Given the description of an element on the screen output the (x, y) to click on. 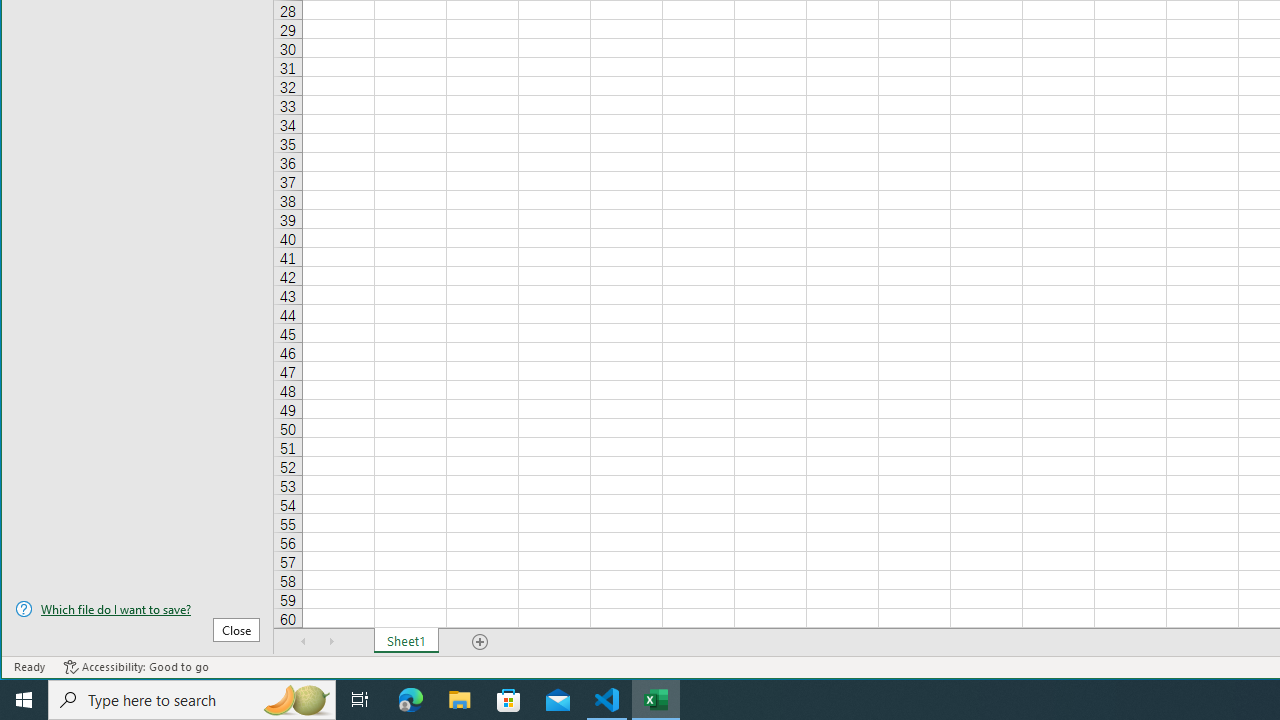
Task View (359, 699)
Microsoft Store (509, 699)
Microsoft Edge (411, 699)
Excel - 1 running window (656, 699)
Visual Studio Code - 1 running window (607, 699)
Start (24, 699)
Type here to search (191, 699)
File Explorer (460, 699)
